Given the description of an element on the screen output the (x, y) to click on. 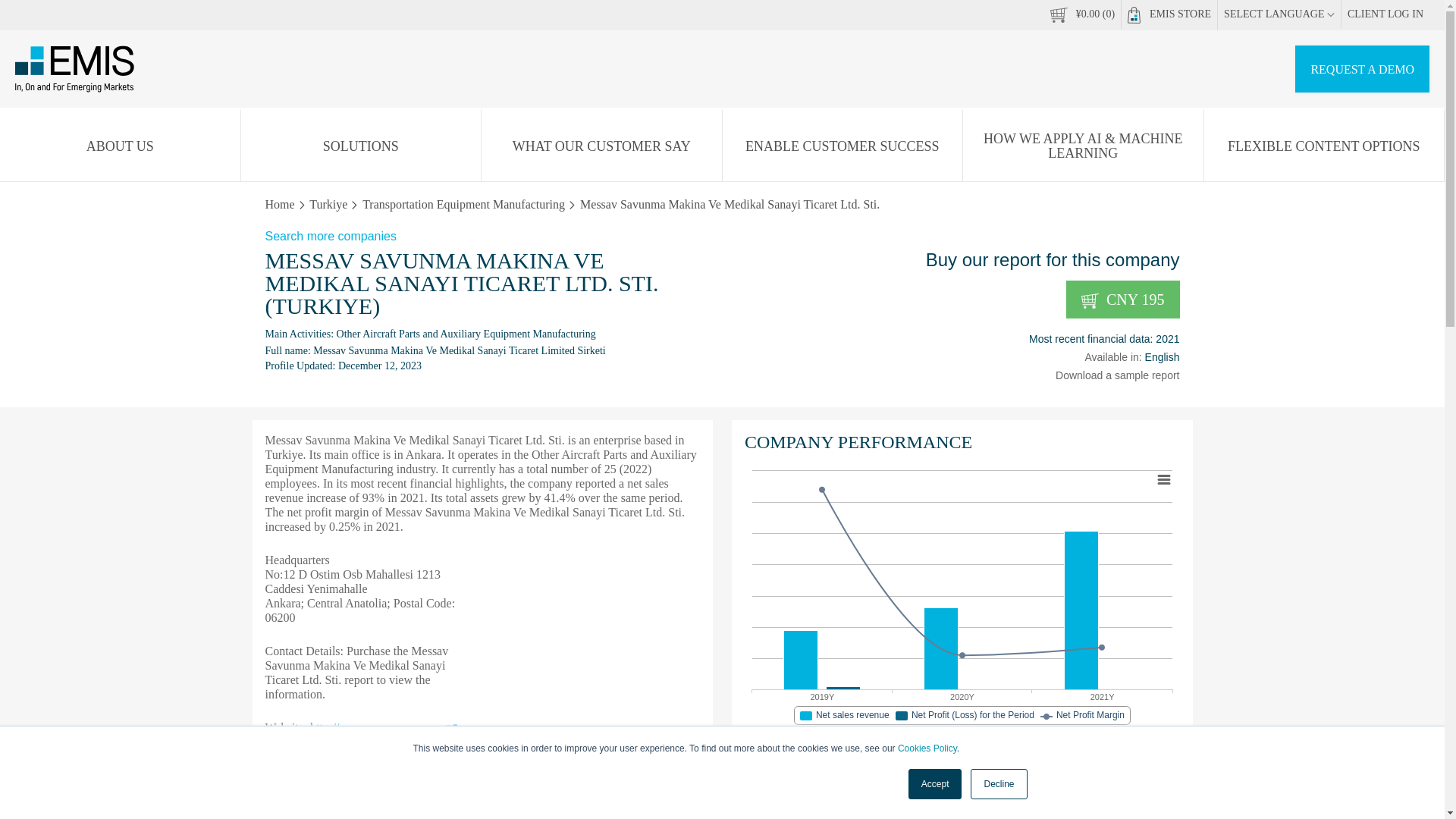
ENABLE CUSTOMER SUCCESS (842, 145)
EMIS STORE (1169, 15)
Chart context menu (1163, 479)
Turkiye (327, 204)
Accept (935, 784)
Cookies Policy (927, 747)
CLIENT LOG IN (1384, 13)
About us (120, 145)
Search more companies (721, 236)
Home (279, 204)
